Given the description of an element on the screen output the (x, y) to click on. 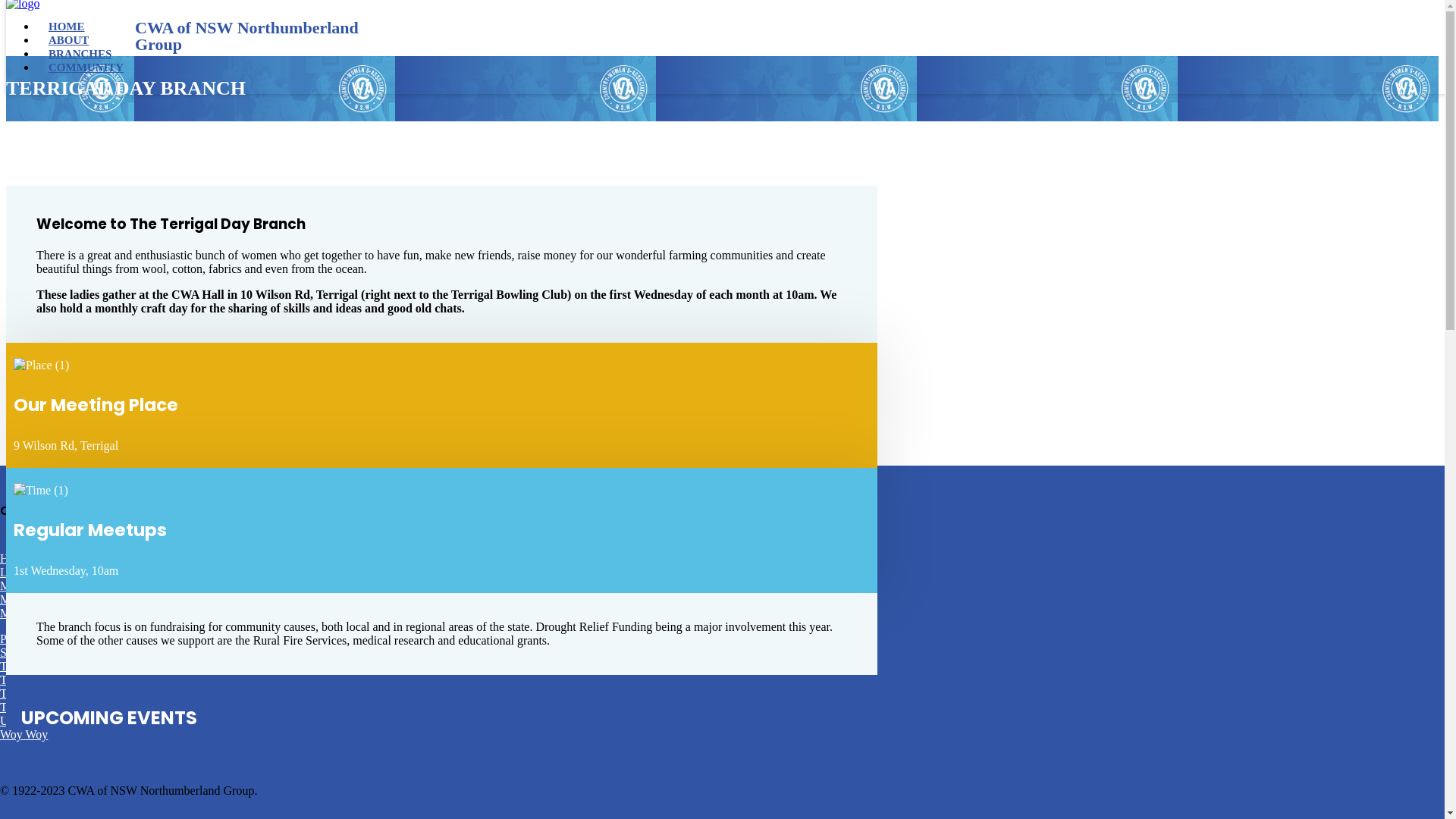
Terrigal Evening Element type: text (40, 679)
Tuggerah Lakes Element type: text (39, 706)
Terrigal Day Element type: text (30, 665)
Peats Ridge & District Element type: text (54, 638)
Mangrove Mountain Evening Element type: text (71, 585)
Umina Beach Element type: text (33, 720)
Hornsby & District Element type: text (47, 558)
Somersby Element type: text (24, 652)
Lisarow / Ourimbah Element type: text (49, 571)
COMMUNITY Element type: text (85, 67)
Morisset Element type: text (21, 612)
Woy Woy Element type: text (23, 734)
ABOUT Element type: text (68, 39)
HOME Element type: text (66, 26)
BRANCHES Element type: text (79, 53)
Mannering Park Element type: text (39, 599)
Toukley Element type: text (19, 693)
